Given the description of an element on the screen output the (x, y) to click on. 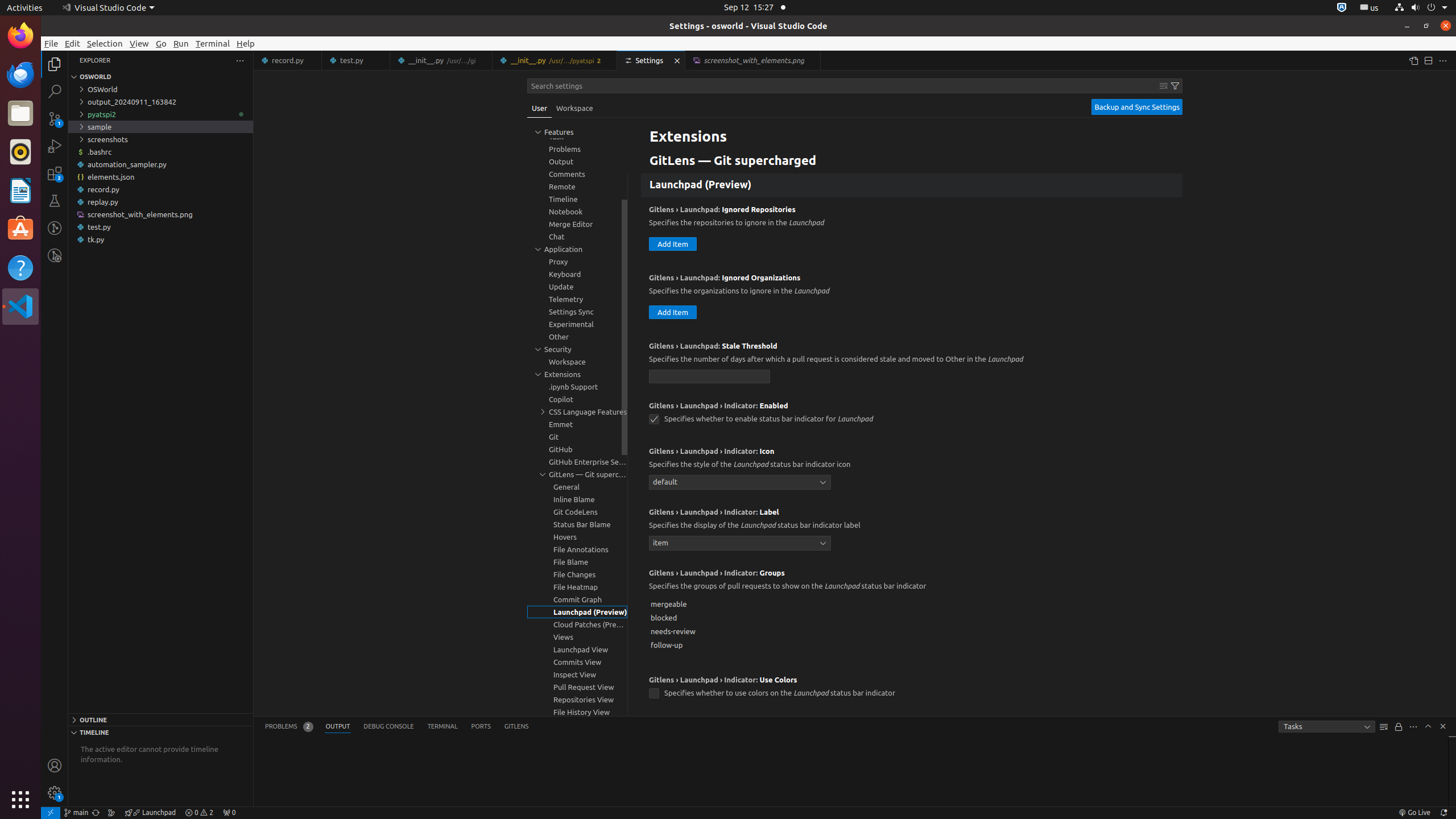
GitLens Inspect Element type: page-tab (54, 255)
Selection Element type: push-button (104, 43)
Run and Debug (Ctrl+Shift+D) Element type: page-tab (54, 145)
Proxy, group Element type: tree-item (577, 261)
